Given the description of an element on the screen output the (x, y) to click on. 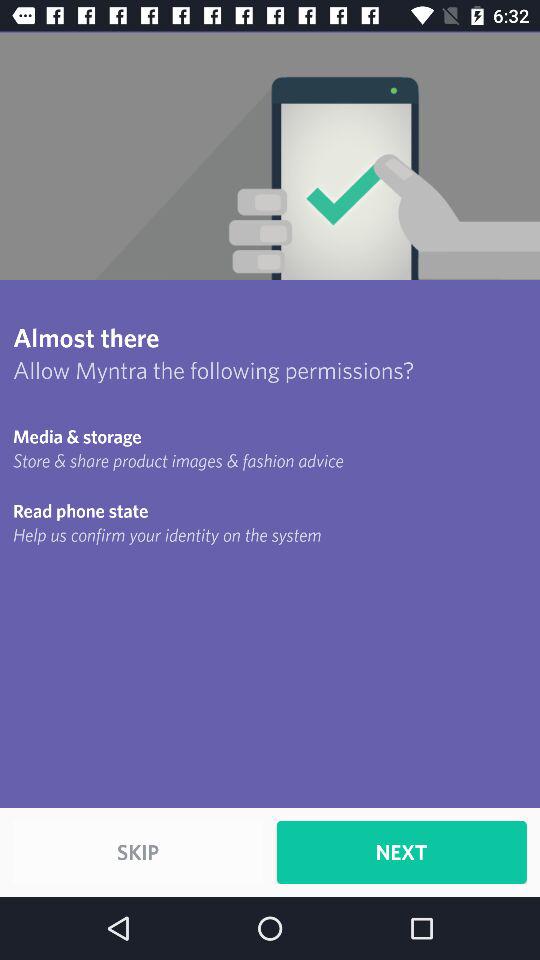
swipe to the skip item (138, 851)
